Given the description of an element on the screen output the (x, y) to click on. 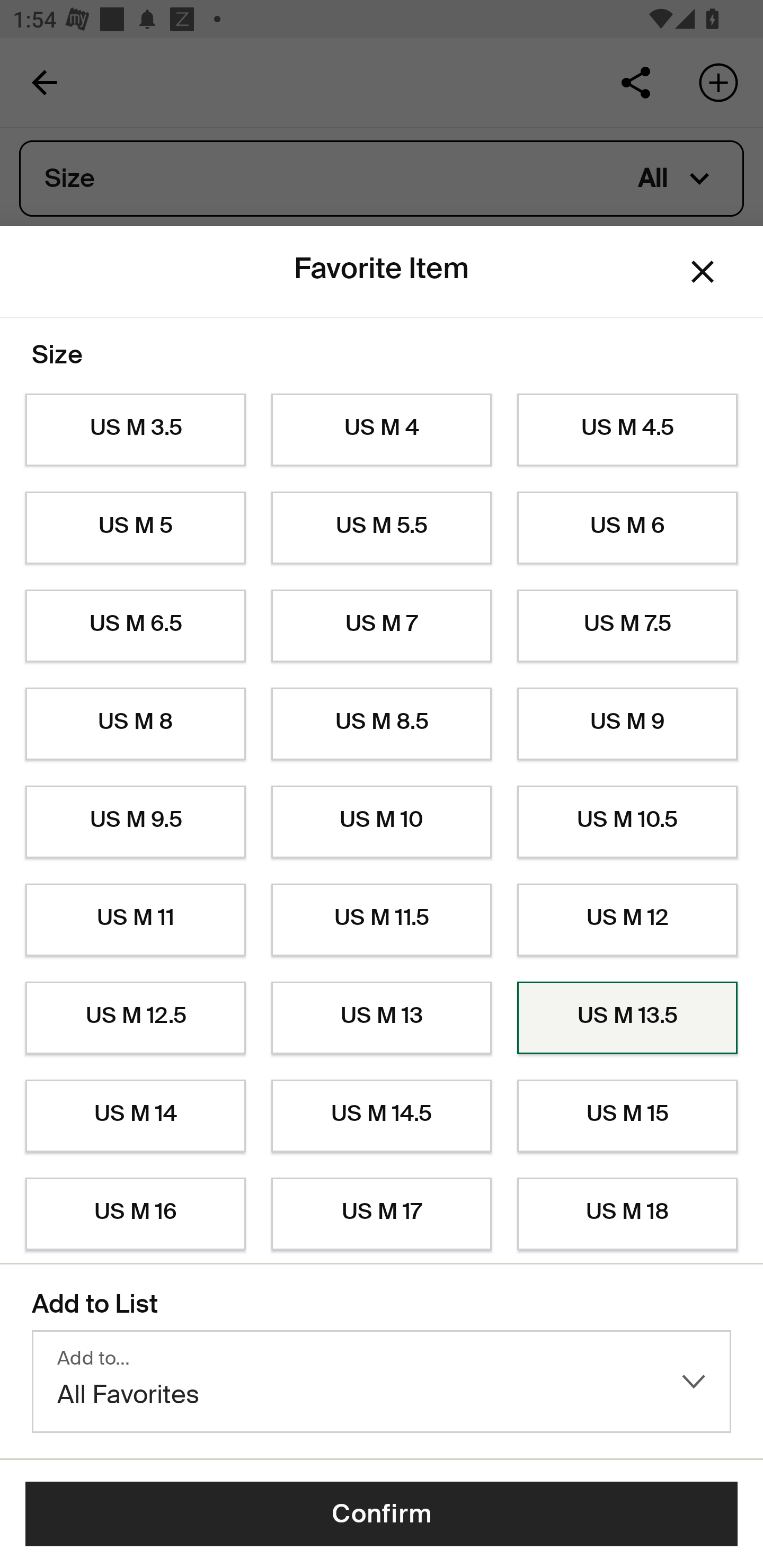
Dismiss (702, 271)
US M 3.5 (135, 430)
US M 4 (381, 430)
US M 4.5 (627, 430)
US M 5 (135, 527)
US M 5.5 (381, 527)
US M 6 (627, 527)
US M 6.5 (135, 626)
US M 7 (381, 626)
US M 7.5 (627, 626)
US M 8 (135, 724)
US M 8.5 (381, 724)
US M 9 (627, 724)
US M 9.5 (135, 822)
US M 10 (381, 822)
US M 10.5 (627, 822)
US M 11 (135, 919)
US M 11.5 (381, 919)
US M 12 (627, 919)
US M 12.5 (135, 1018)
US M 13 (381, 1018)
US M 13.5 (627, 1018)
US M 14 (135, 1116)
US M 14.5 (381, 1116)
US M 15 (627, 1116)
US M 16 (135, 1214)
US M 17 (381, 1214)
US M 18 (627, 1214)
Add to… All Favorites (381, 1381)
Confirm (381, 1513)
